Given the description of an element on the screen output the (x, y) to click on. 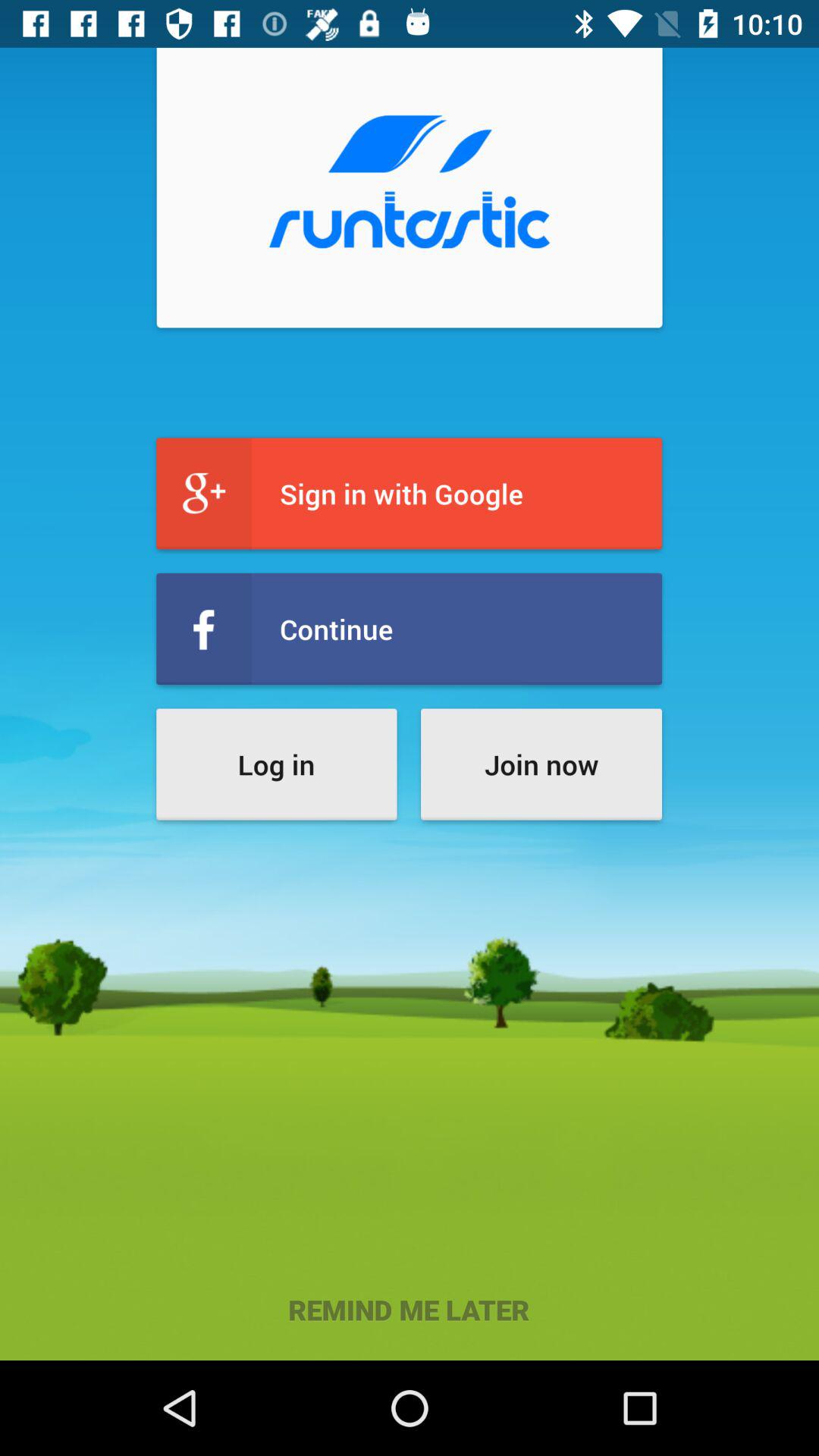
choose the icon above the remind me later icon (276, 764)
